Given the description of an element on the screen output the (x, y) to click on. 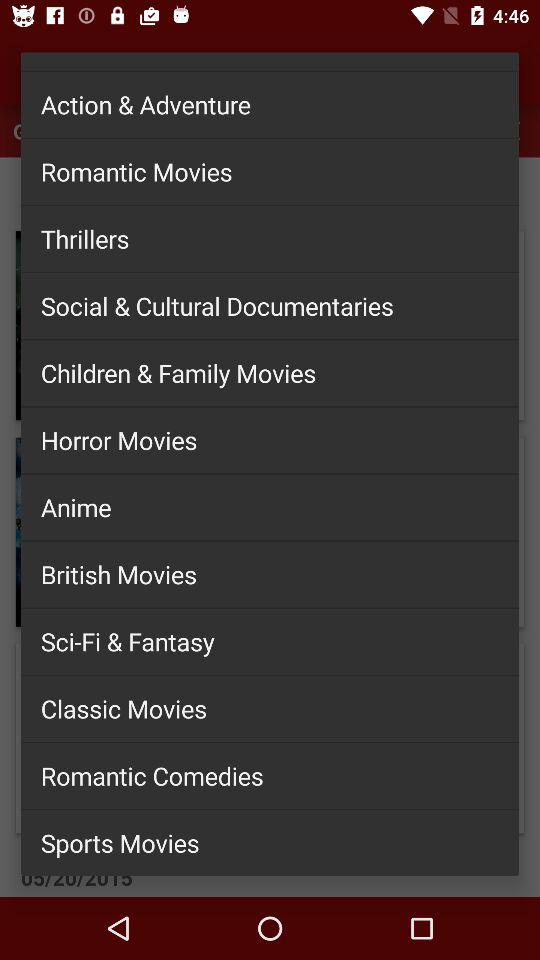
jump to action & adventure (269, 104)
